Given the description of an element on the screen output the (x, y) to click on. 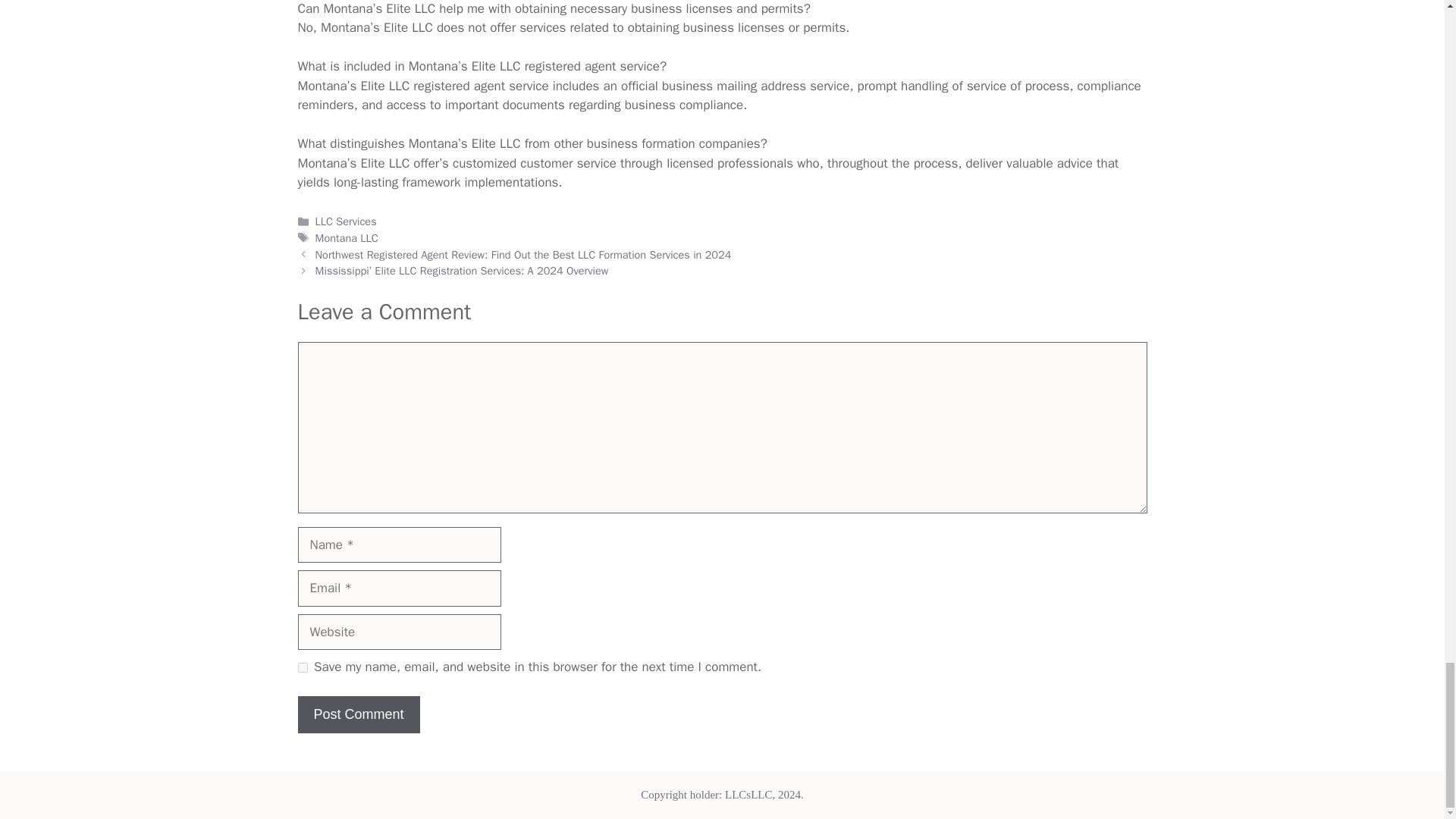
yes (302, 667)
Montana LLC (346, 237)
Post Comment (358, 714)
LLC Services (346, 221)
